Given the description of an element on the screen output the (x, y) to click on. 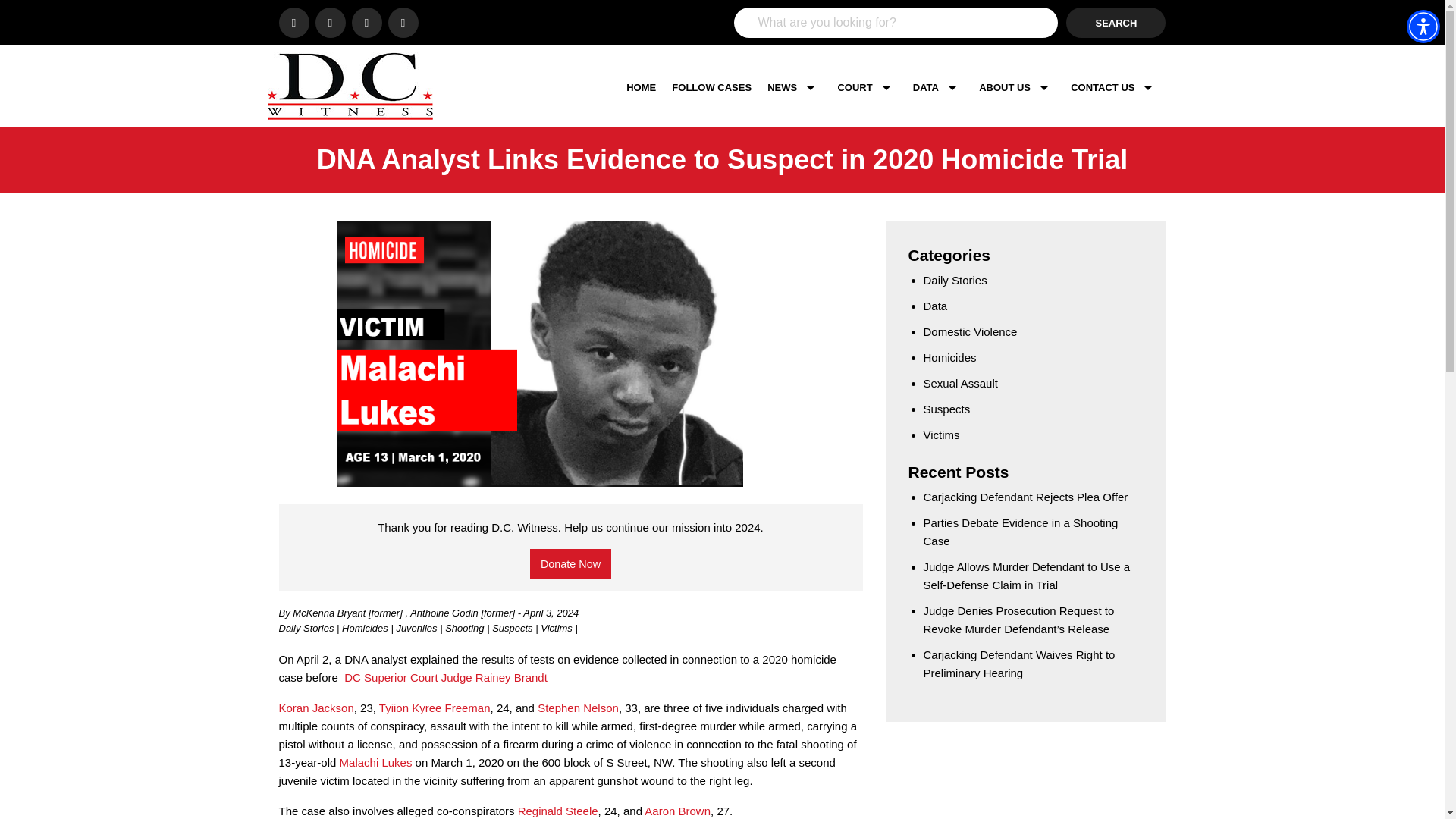
COURT (866, 87)
FOLLOW CASES (711, 87)
DATA (938, 87)
Accessibility Menu (1422, 26)
ABOUT US (1016, 87)
Search (1115, 22)
Donate Now (570, 563)
Daily Stories (308, 627)
Search (1115, 22)
CONTACT US (1114, 87)
NEWS (794, 87)
Search (1115, 22)
